Given the description of an element on the screen output the (x, y) to click on. 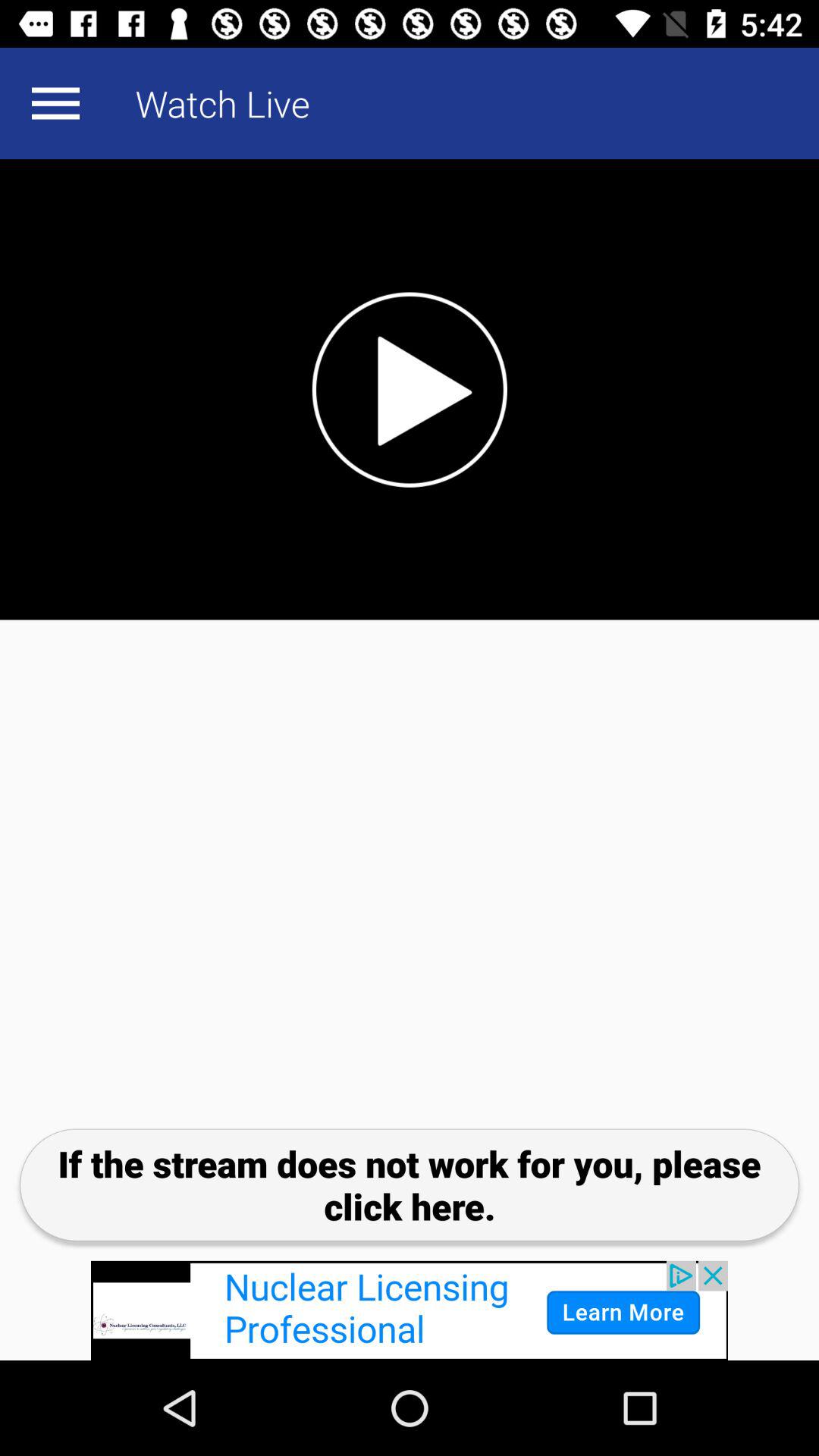
play button for embedded video (409, 389)
